Given the description of an element on the screen output the (x, y) to click on. 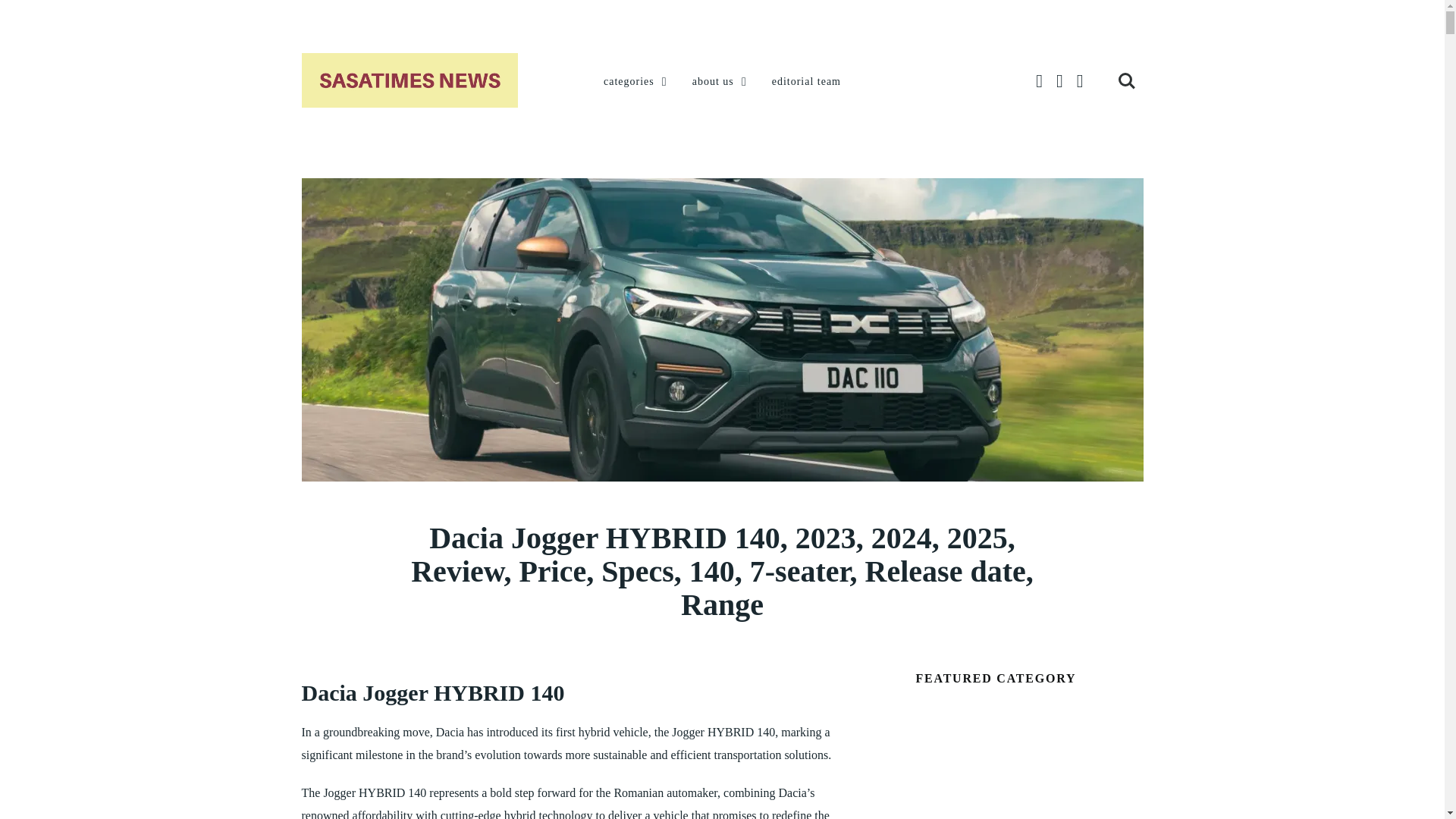
categories (636, 81)
editorial team (806, 81)
about us (721, 81)
